Given the description of an element on the screen output the (x, y) to click on. 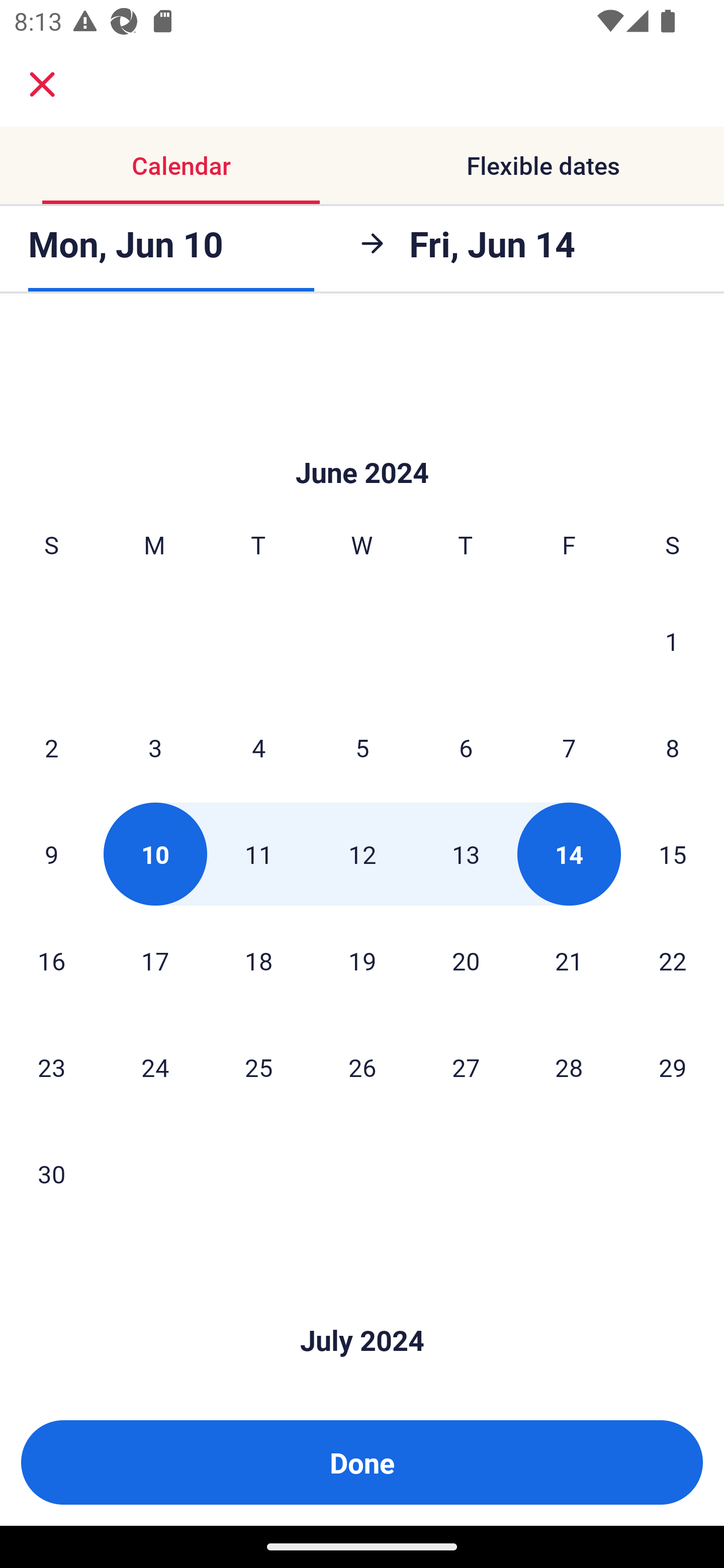
close. (42, 84)
Flexible dates (542, 164)
Skip to Done (362, 441)
1 Saturday, June 1, 2024 (672, 641)
2 Sunday, June 2, 2024 (51, 747)
3 Monday, June 3, 2024 (155, 747)
4 Tuesday, June 4, 2024 (258, 747)
5 Wednesday, June 5, 2024 (362, 747)
6 Thursday, June 6, 2024 (465, 747)
7 Friday, June 7, 2024 (569, 747)
8 Saturday, June 8, 2024 (672, 747)
9 Sunday, June 9, 2024 (51, 854)
15 Saturday, June 15, 2024 (672, 854)
16 Sunday, June 16, 2024 (51, 960)
17 Monday, June 17, 2024 (155, 960)
18 Tuesday, June 18, 2024 (258, 960)
19 Wednesday, June 19, 2024 (362, 960)
20 Thursday, June 20, 2024 (465, 960)
21 Friday, June 21, 2024 (569, 960)
22 Saturday, June 22, 2024 (672, 960)
23 Sunday, June 23, 2024 (51, 1066)
24 Monday, June 24, 2024 (155, 1066)
25 Tuesday, June 25, 2024 (258, 1066)
26 Wednesday, June 26, 2024 (362, 1066)
27 Thursday, June 27, 2024 (465, 1066)
28 Friday, June 28, 2024 (569, 1066)
29 Saturday, June 29, 2024 (672, 1066)
30 Sunday, June 30, 2024 (51, 1173)
Skip to Done (362, 1310)
Done (361, 1462)
